Given the description of an element on the screen output the (x, y) to click on. 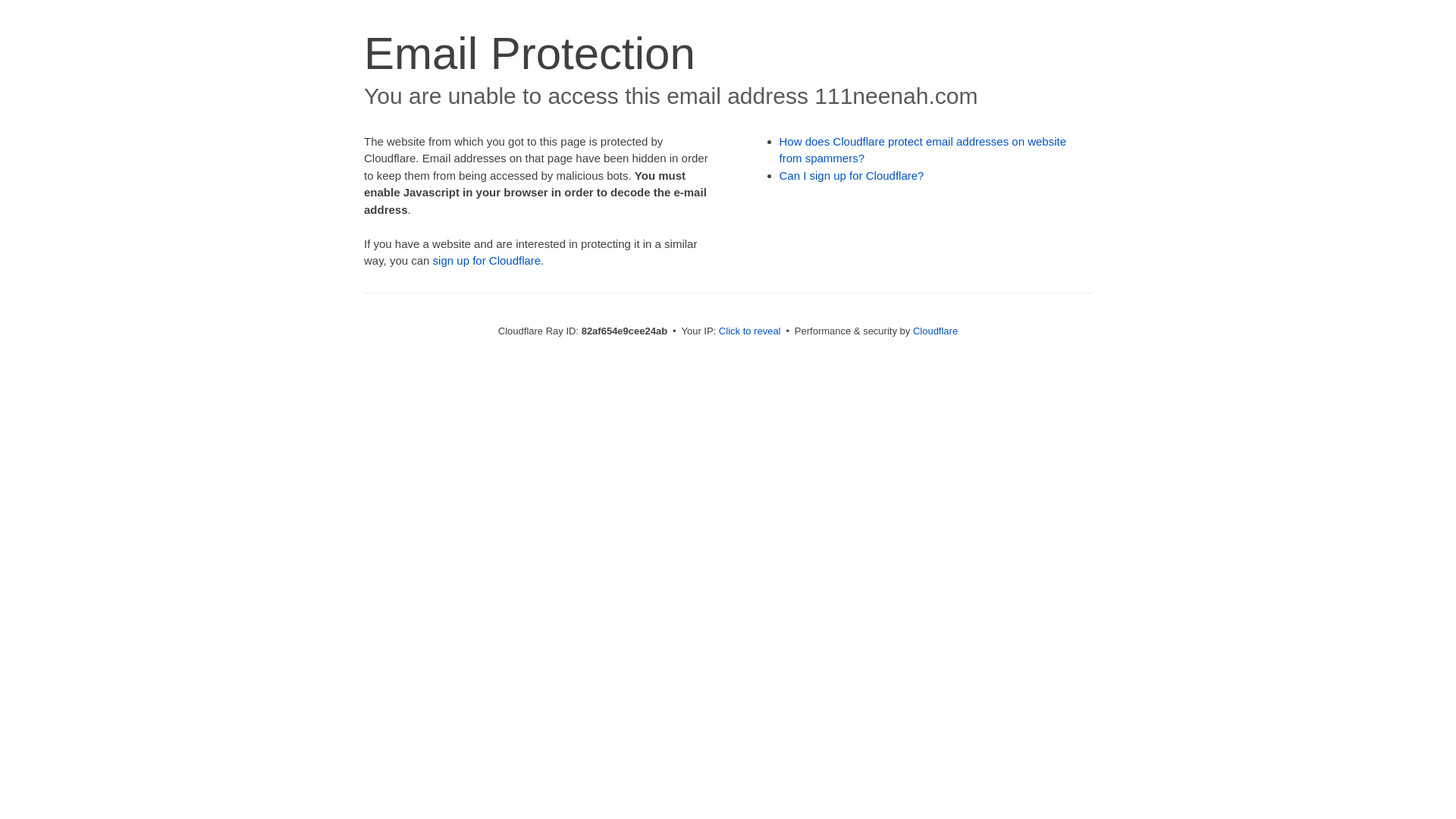
Click to reveal Element type: text (749, 330)
Can I sign up for Cloudflare? Element type: text (851, 175)
sign up for Cloudflare Element type: text (487, 260)
Cloudflare Element type: text (935, 330)
